Given the description of an element on the screen output the (x, y) to click on. 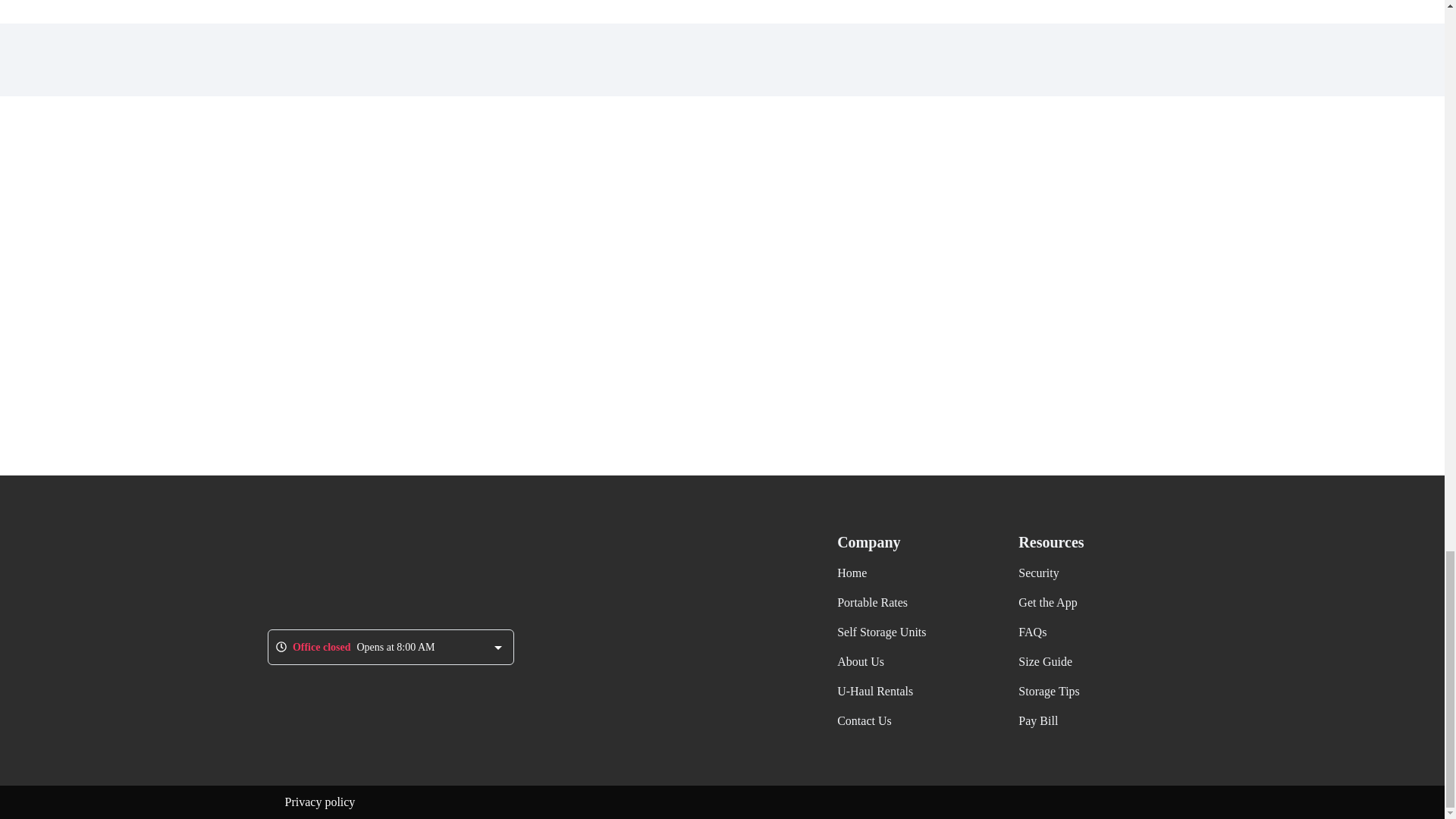
Home (851, 572)
Contact Us (864, 720)
About Us (860, 661)
U-Haul Rentals (874, 690)
Self Storage Units (881, 631)
Storage Tips (1047, 690)
Security (1037, 572)
Get the App (1047, 602)
Portable Rates (872, 602)
Storage 2 Go (352, 570)
